Given the description of an element on the screen output the (x, y) to click on. 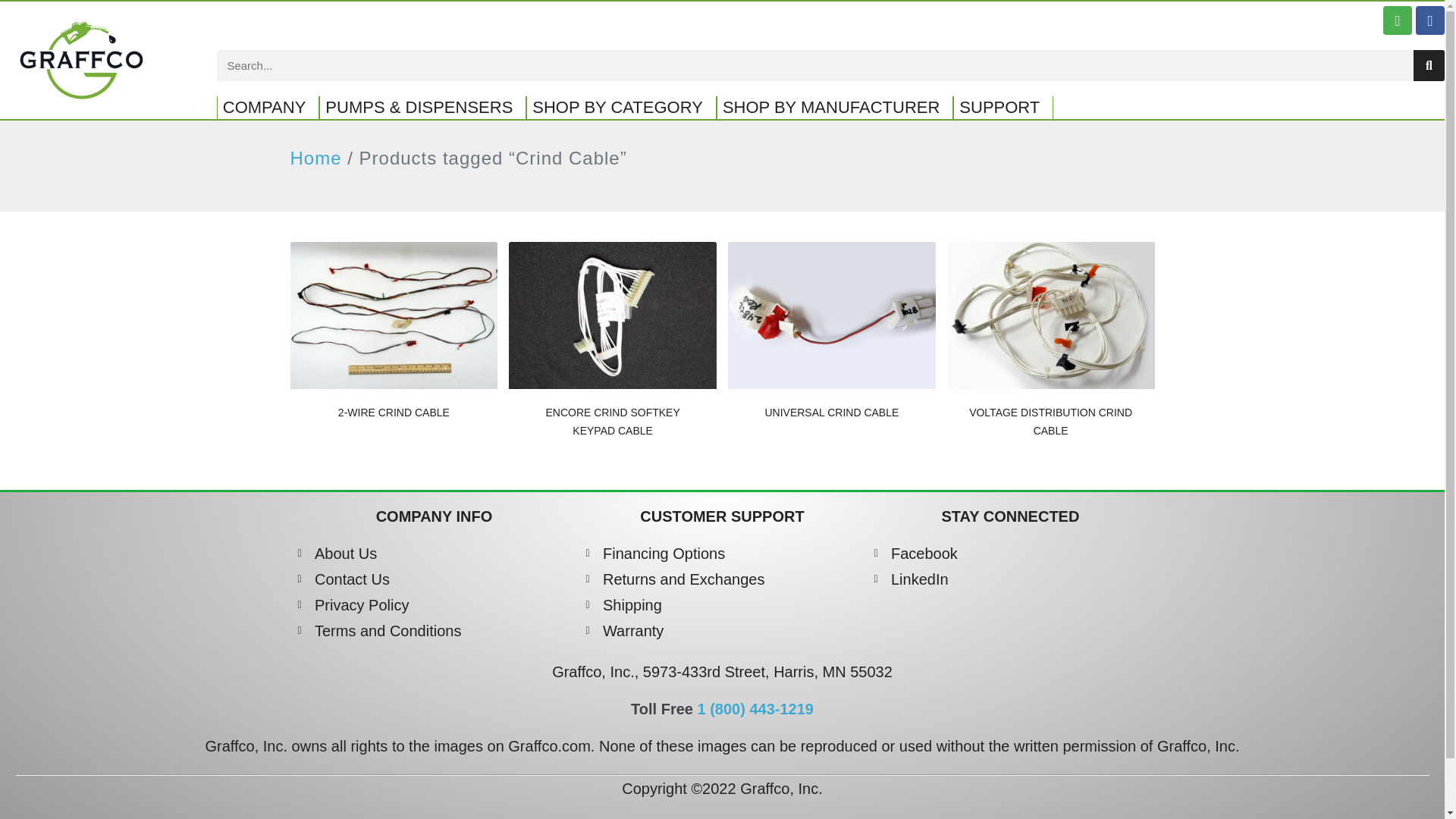
SUPPORT (1002, 107)
SHOP BY MANUFACTURER (834, 107)
SHOP BY CATEGORY (620, 107)
COMPANY (268, 107)
